Given the description of an element on the screen output the (x, y) to click on. 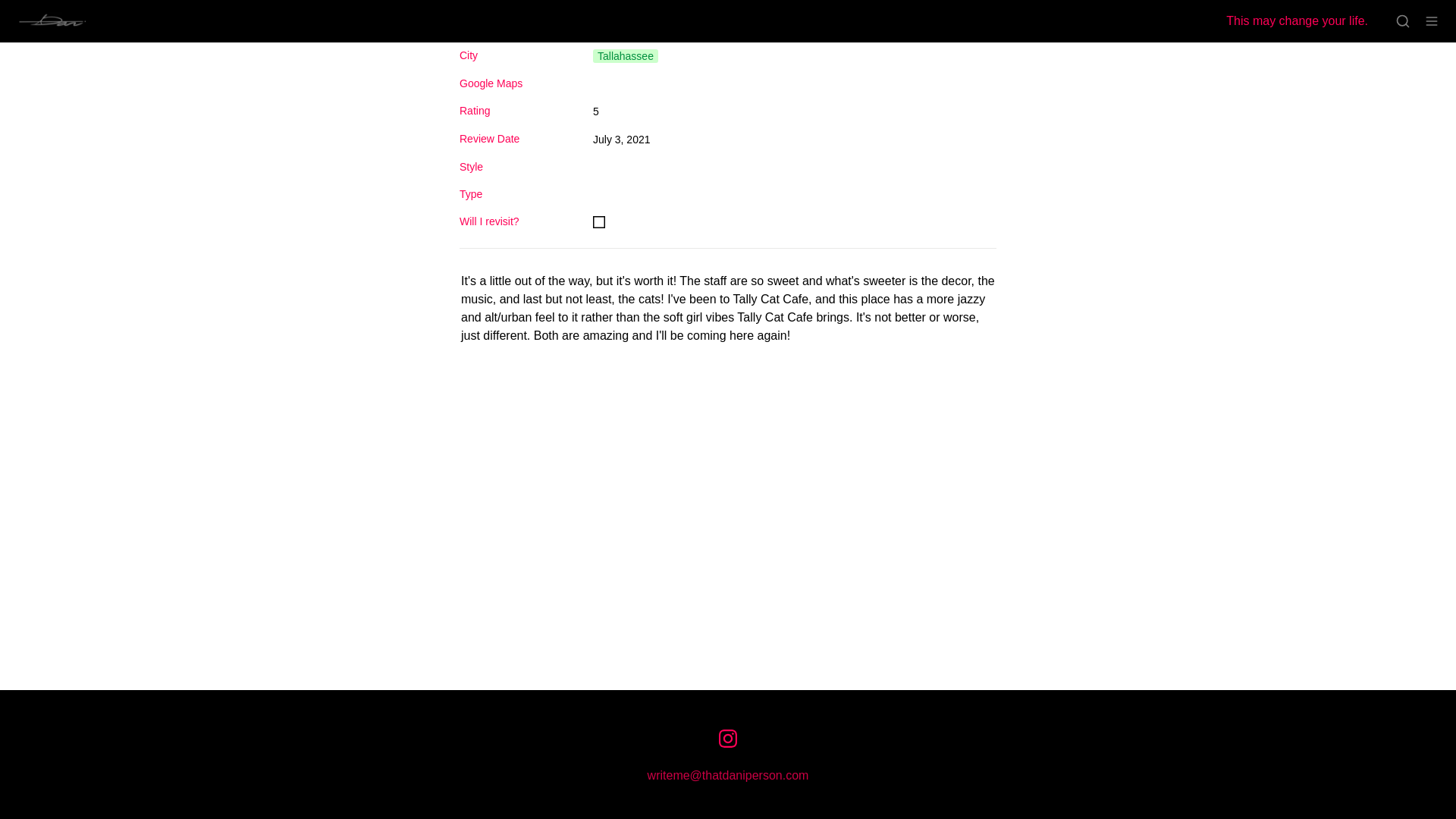
Instagram (727, 738)
This may change your life. (1300, 21)
Instagram (727, 738)
